Given the description of an element on the screen output the (x, y) to click on. 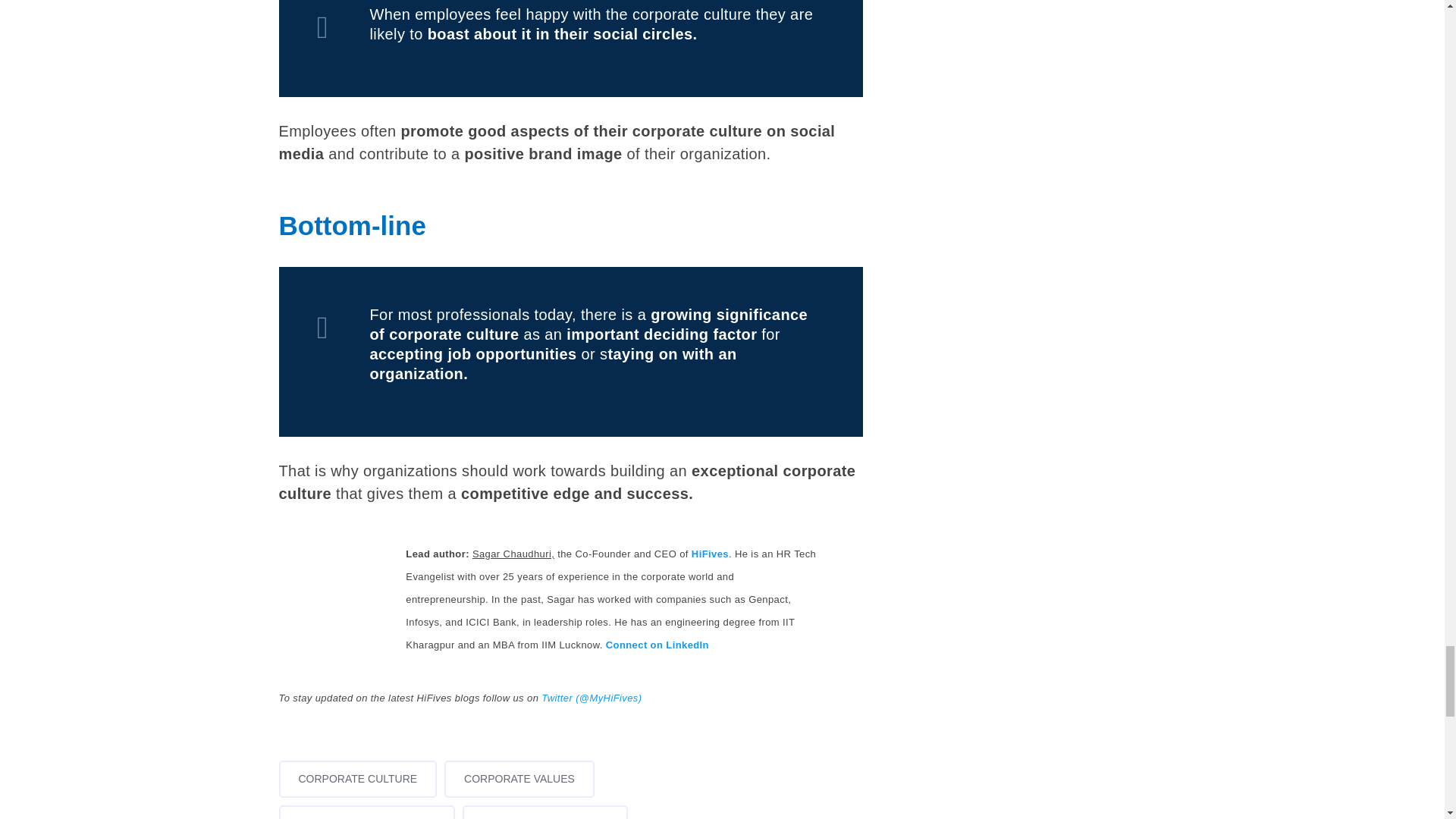
EMPLOYEE MOTIVATION (545, 812)
Connect on LinkedIn (657, 644)
CORPORATE VALUES (519, 778)
EMPLOYEE ENGAGEMENT (366, 812)
CORPORATE CULTURE (358, 778)
HiFives (710, 553)
